Given the description of an element on the screen output the (x, y) to click on. 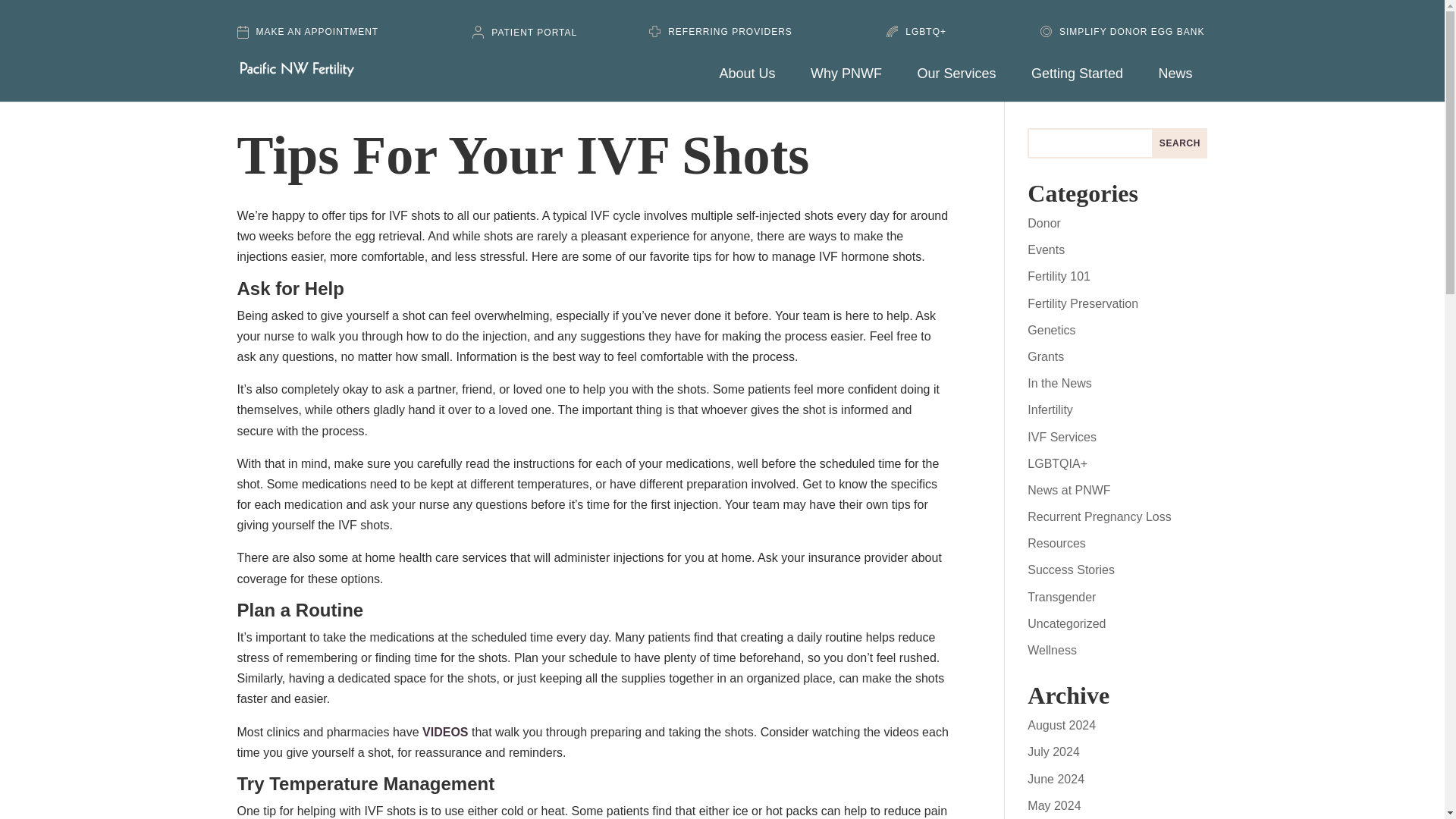
Getting Started (1084, 84)
Search (1179, 142)
SIMPLIFY DONOR EGG BANK (1112, 35)
Our Services (963, 84)
About Us (754, 84)
Why PNWF (853, 84)
MAKE AN APPOINTMENT (327, 35)
PATIENT PORTAL (524, 35)
REFERRING PROVIDERS (720, 35)
